Given the description of an element on the screen output the (x, y) to click on. 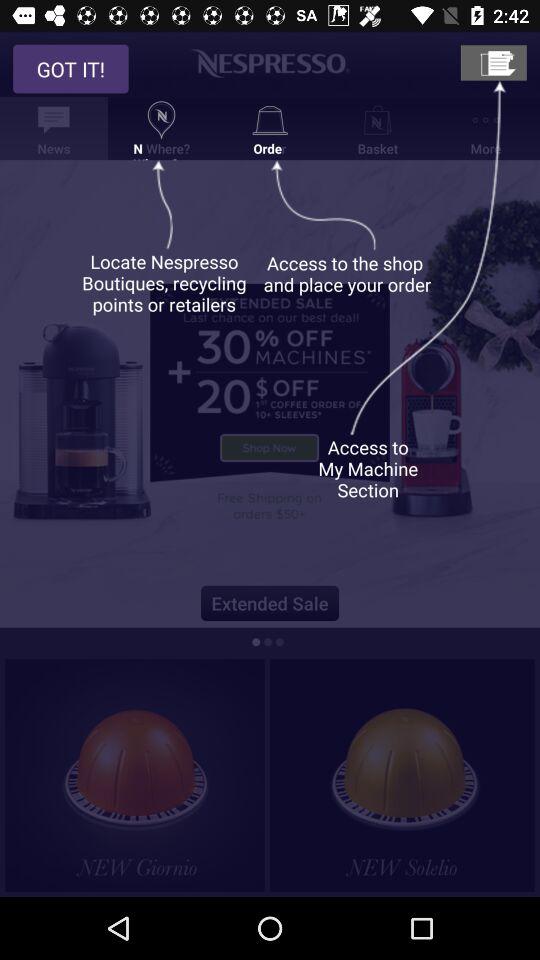
machine section button (493, 62)
